Given the description of an element on the screen output the (x, y) to click on. 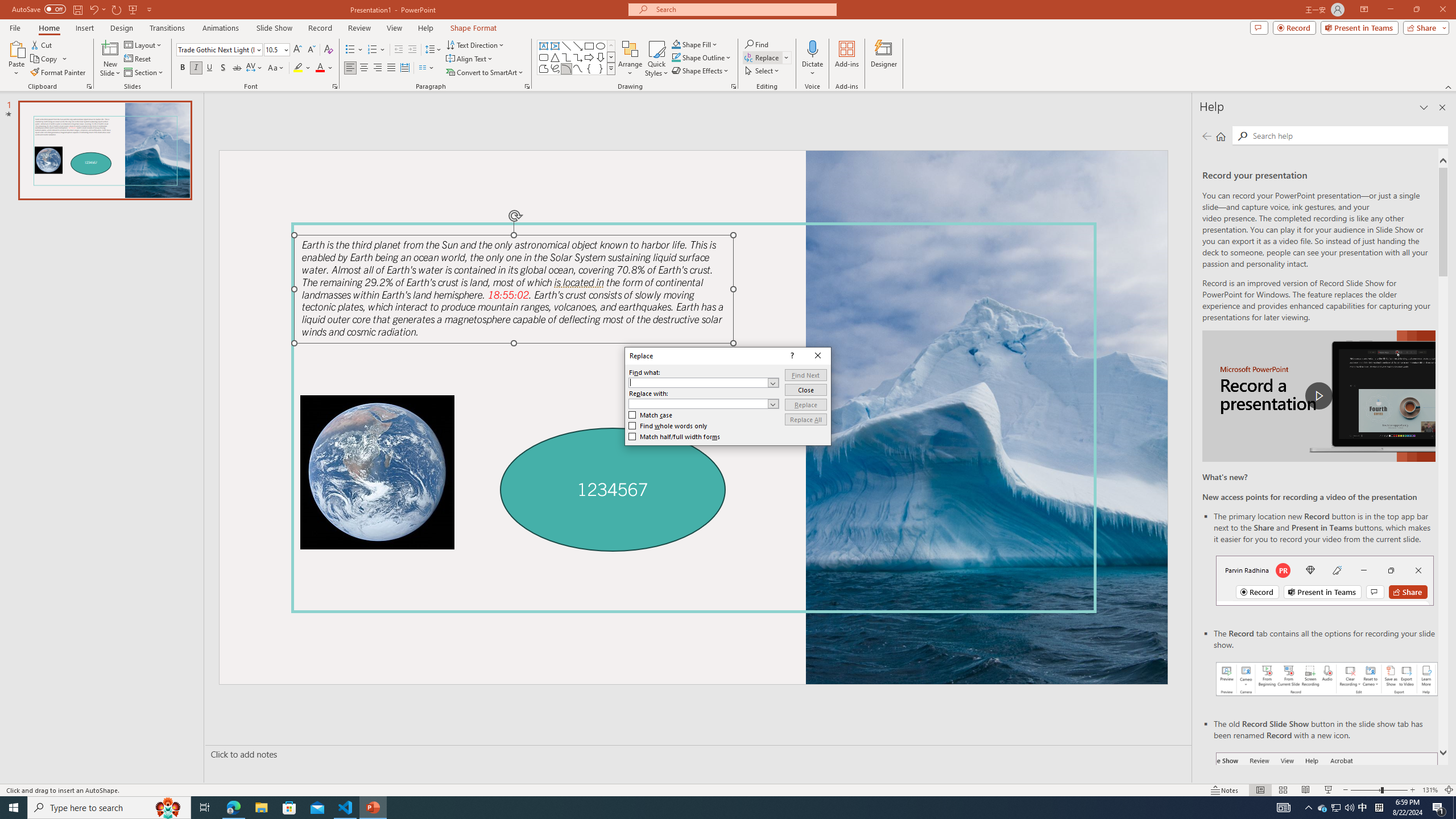
play Record a Presentation (1318, 395)
